Given the description of an element on the screen output the (x, y) to click on. 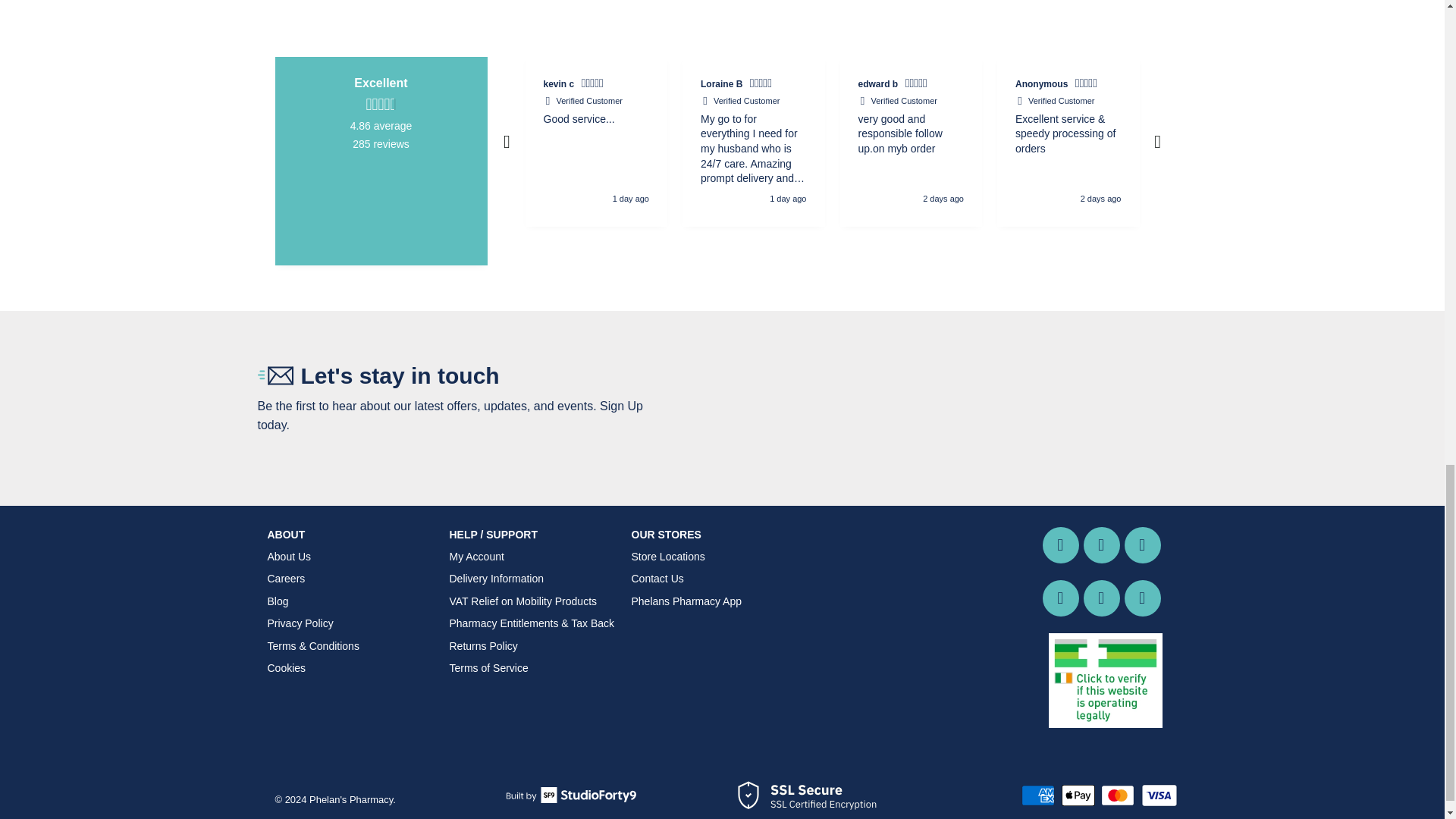
5 Stars (1225, 84)
Apple Pay (1079, 794)
Mastercard (1118, 794)
American Express (1040, 794)
5 Stars (762, 84)
5 Stars (593, 84)
4.86 Stars (380, 104)
Read more reviews on REVIEWS.io (380, 201)
5 Stars (1087, 84)
5 Stars (918, 84)
